Given the description of an element on the screen output the (x, y) to click on. 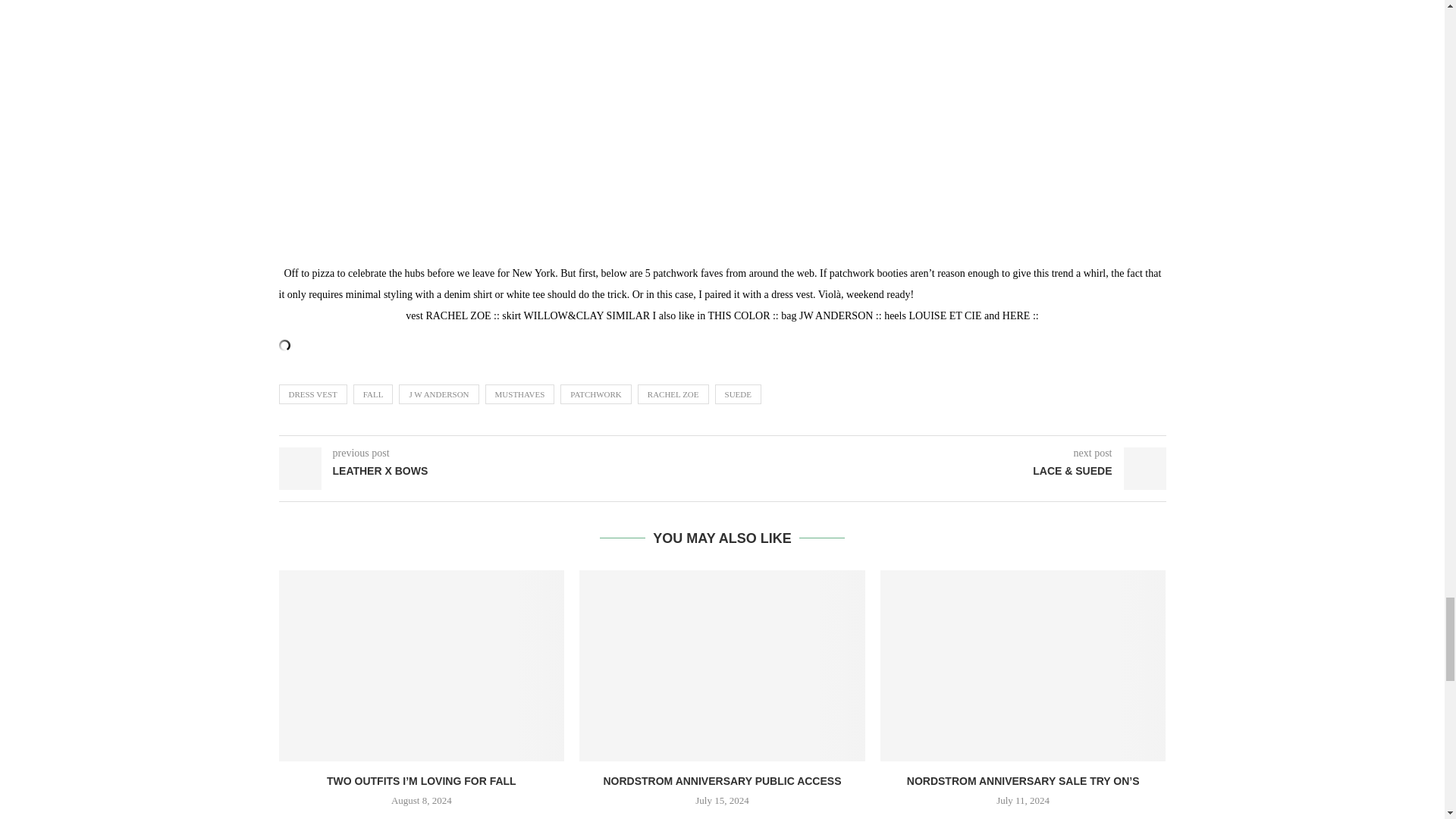
RACHEL ZOE (457, 315)
MUSTHAVES (519, 394)
DRESS VEST (313, 394)
RACHEL ZOE (673, 394)
FALL (373, 394)
LOUISE ET CIE (944, 315)
J W ANDERSON (438, 394)
JW ANDERSON (835, 315)
SIMILAR (628, 315)
Nordstrom Anniversary Public access (721, 665)
